Given the description of an element on the screen output the (x, y) to click on. 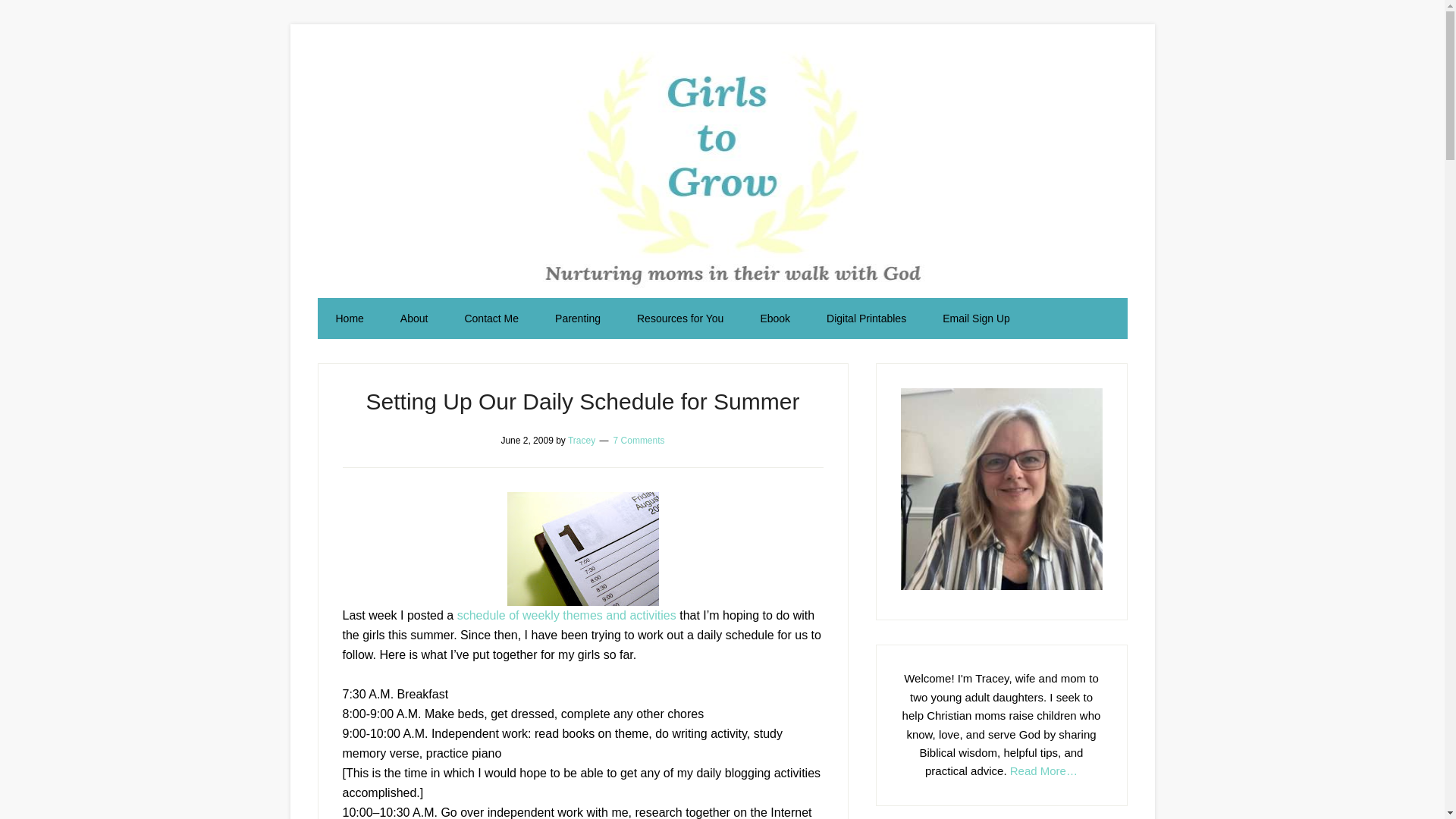
Tracey (581, 439)
Parenting (577, 318)
Email Sign Up (975, 318)
schedule of weekly themes and activities (567, 614)
Ebook (774, 318)
Contact Me (491, 318)
Home (349, 318)
Digital Printables (866, 318)
7 Comments (638, 439)
Resources for You (679, 318)
About (413, 318)
